Given the description of an element on the screen output the (x, y) to click on. 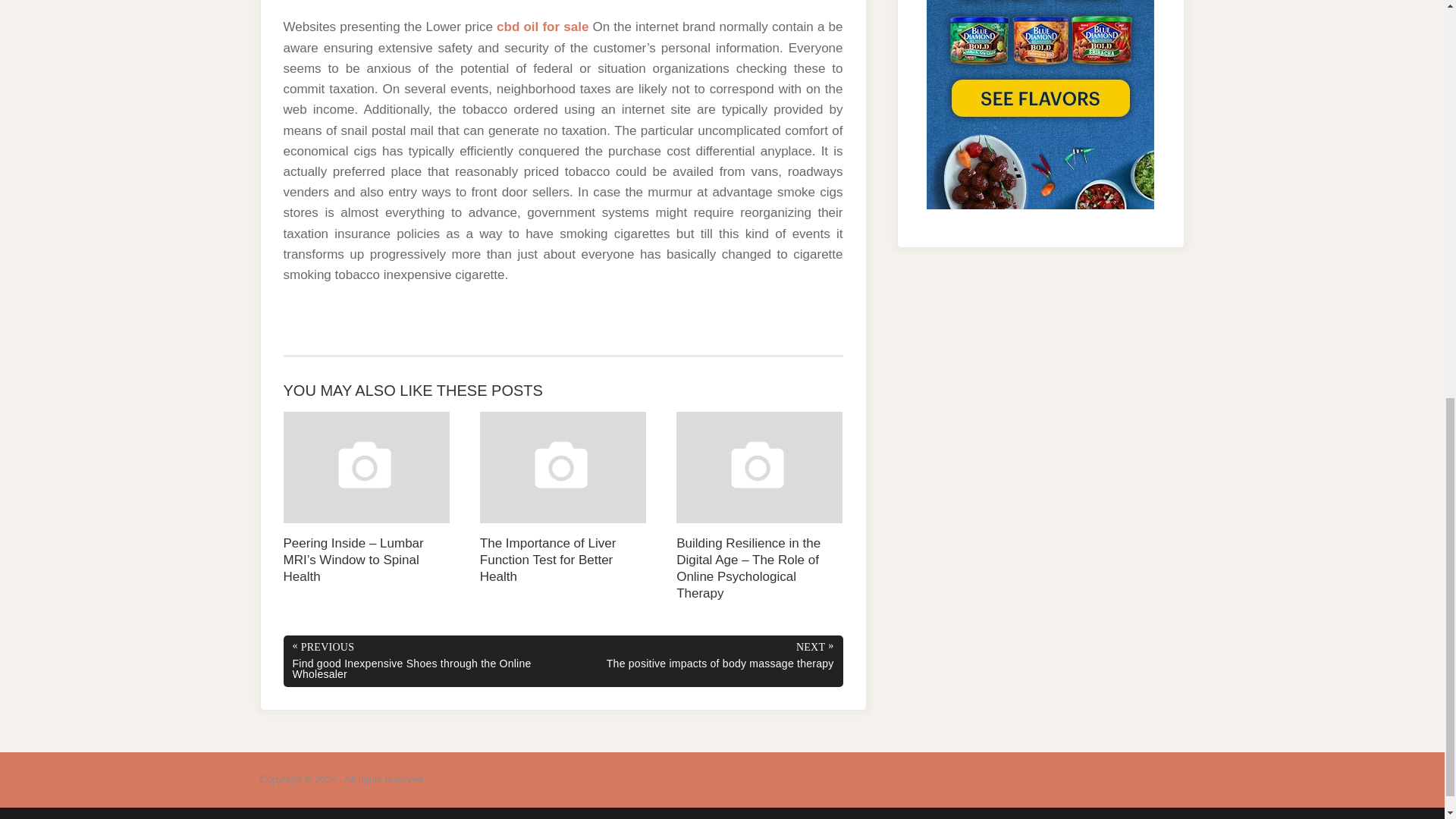
cbd oil for sale (542, 26)
The Importance of Liver Function Test for Better Health (563, 498)
The Importance of Liver Function Test for Better Health (563, 498)
